Given the description of an element on the screen output the (x, y) to click on. 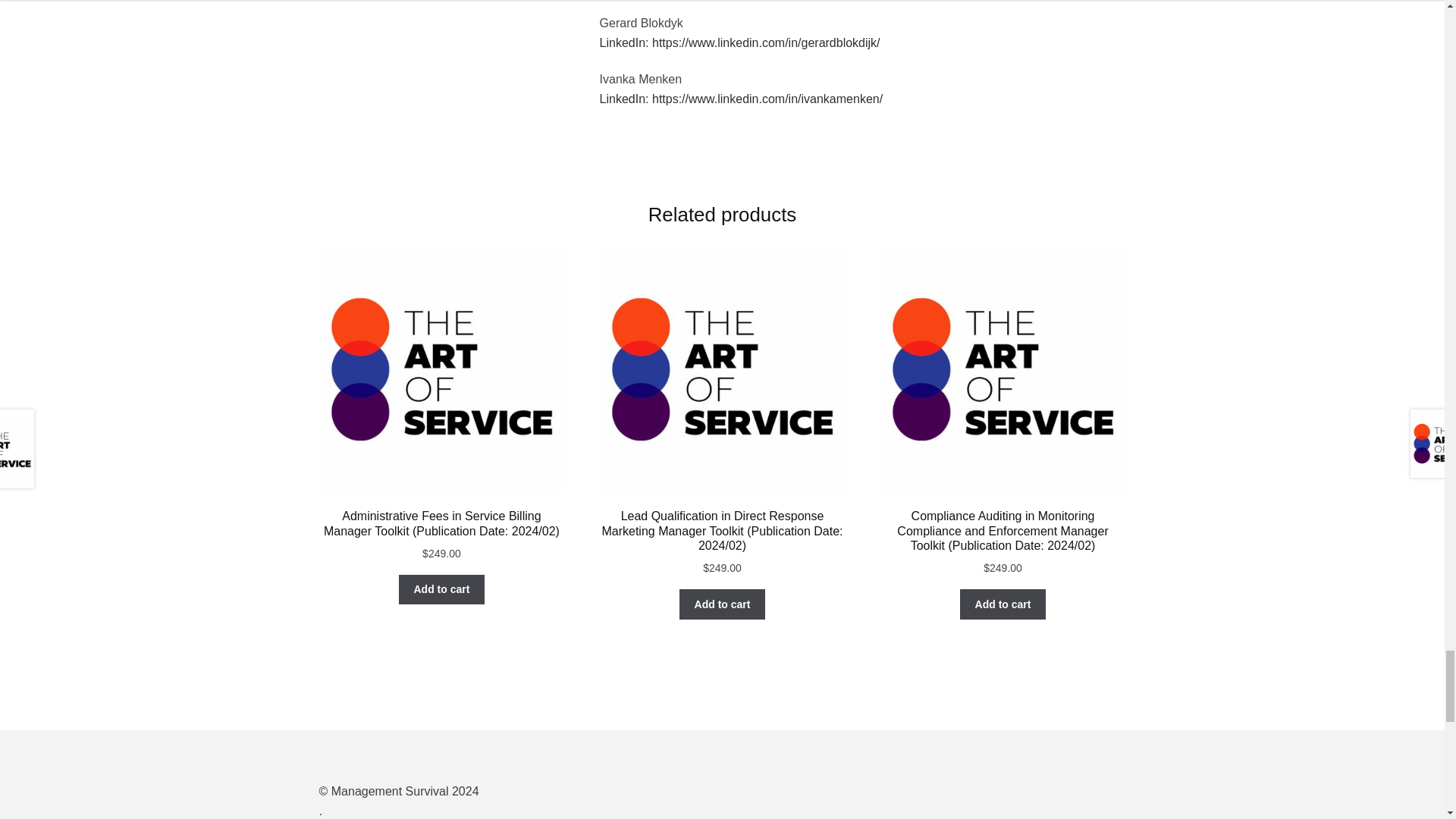
Add to cart (1002, 603)
Add to cart (441, 589)
Add to cart (722, 603)
